Given the description of an element on the screen output the (x, y) to click on. 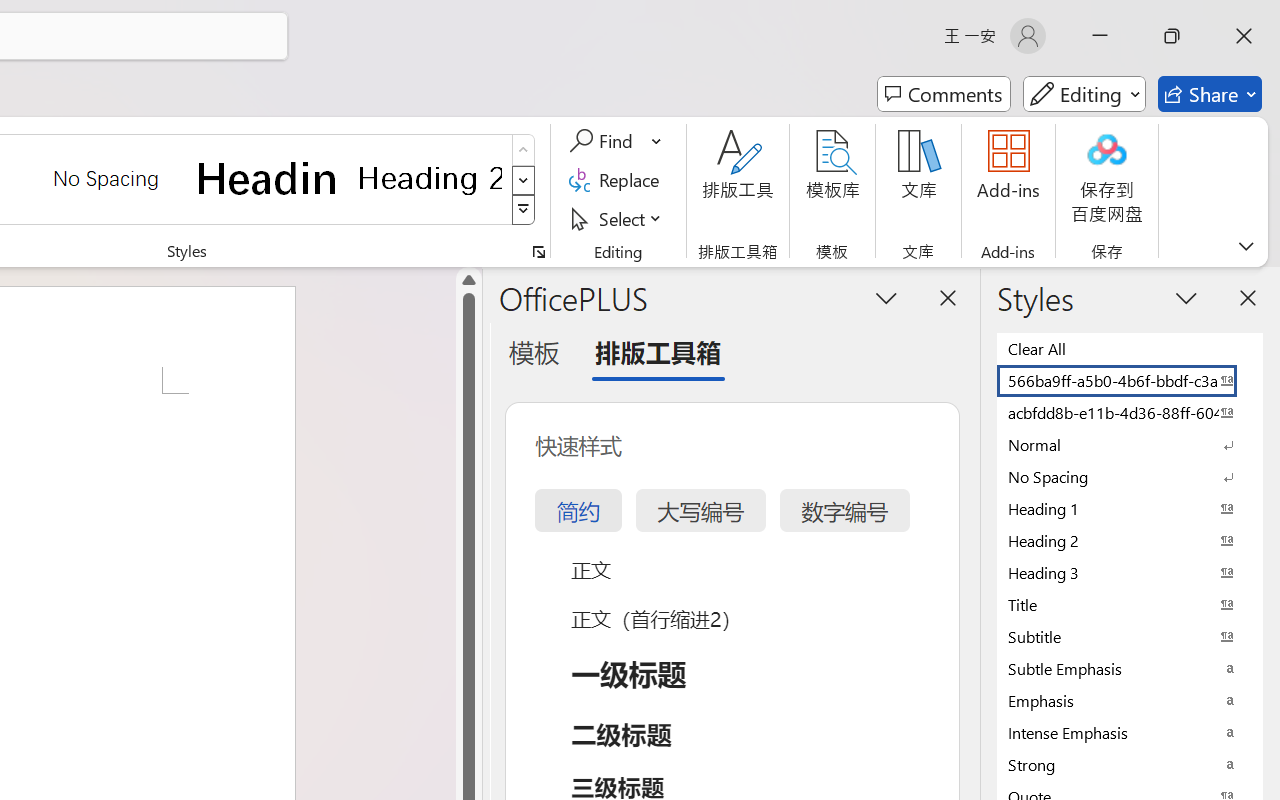
Intense Emphasis (1130, 732)
Subtle Emphasis (1130, 668)
566ba9ff-a5b0-4b6f-bbdf-c3ab41993fc2 (1130, 380)
Minimize (1099, 36)
Class: NetUIImage (523, 210)
Ribbon Display Options (1246, 245)
Row Down (523, 180)
Task Pane Options (886, 297)
Normal (1130, 444)
Find (616, 141)
